Given the description of an element on the screen output the (x, y) to click on. 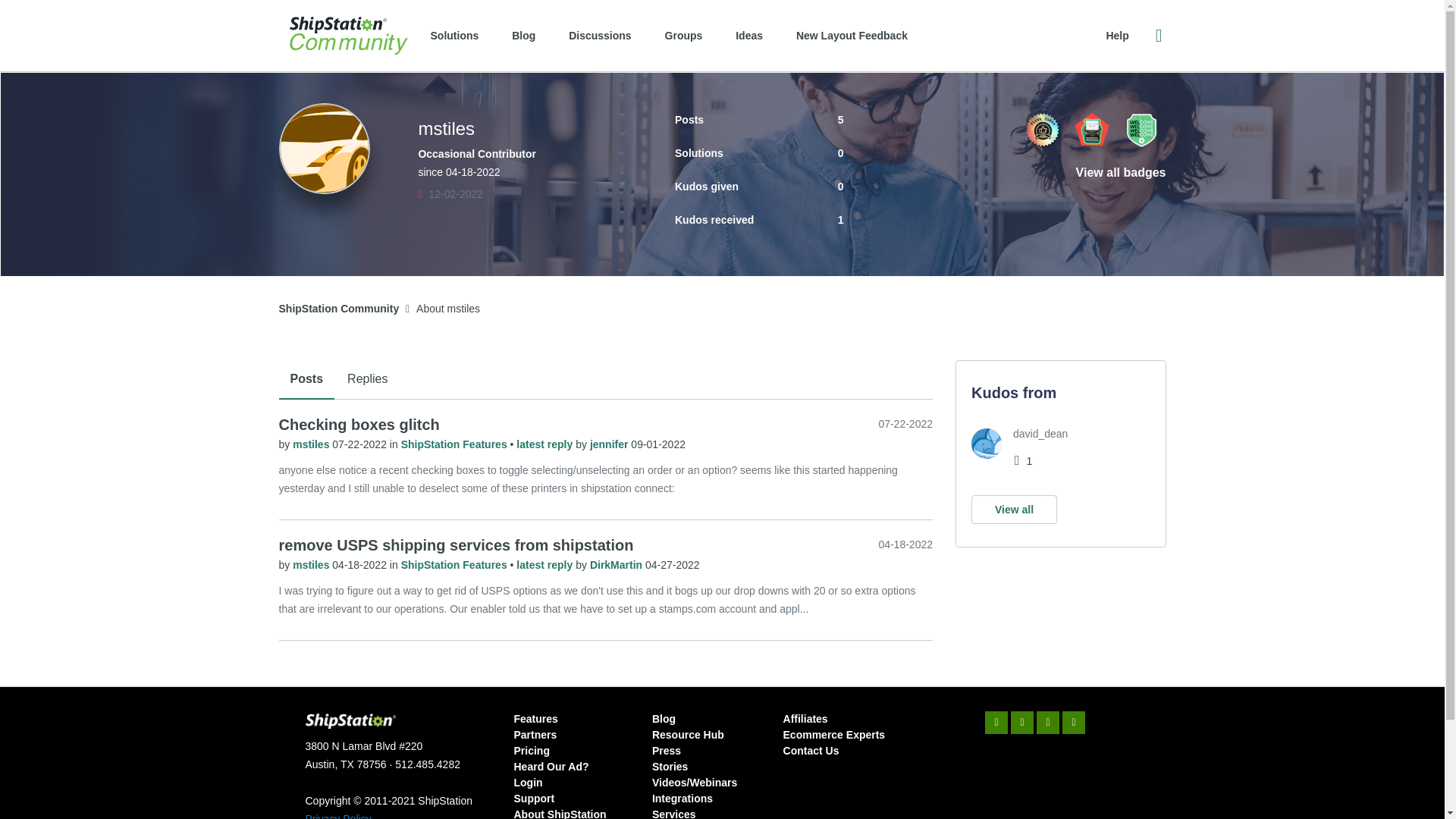
Replies (367, 379)
View profile (311, 444)
View profile (617, 564)
ShipStation Features (456, 444)
View all badges (1120, 172)
mstiles (311, 564)
Solutions (454, 35)
View post (545, 444)
View profile (311, 564)
Checking boxes glitch (359, 424)
First Kudos (1042, 129)
jennifer (609, 444)
Ideas (748, 35)
Groups (683, 35)
latest reply (545, 444)
